Given the description of an element on the screen output the (x, y) to click on. 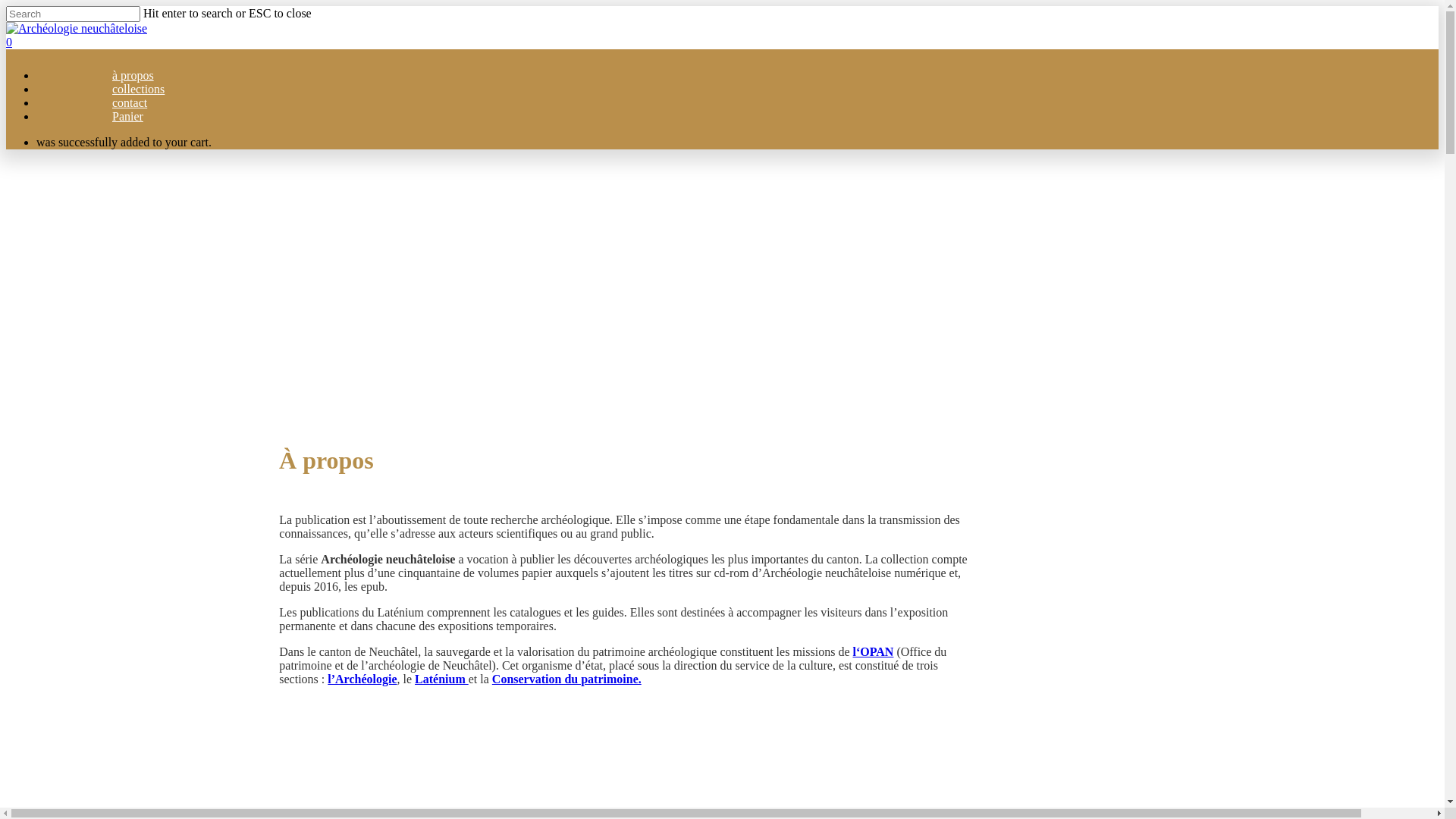
Skip to main content Element type: text (5, 5)
Panier Element type: text (127, 119)
collections Element type: text (138, 92)
contact Element type: text (129, 106)
Conservation du patrimoine. Element type: text (566, 678)
0 Element type: text (722, 42)
